Given the description of an element on the screen output the (x, y) to click on. 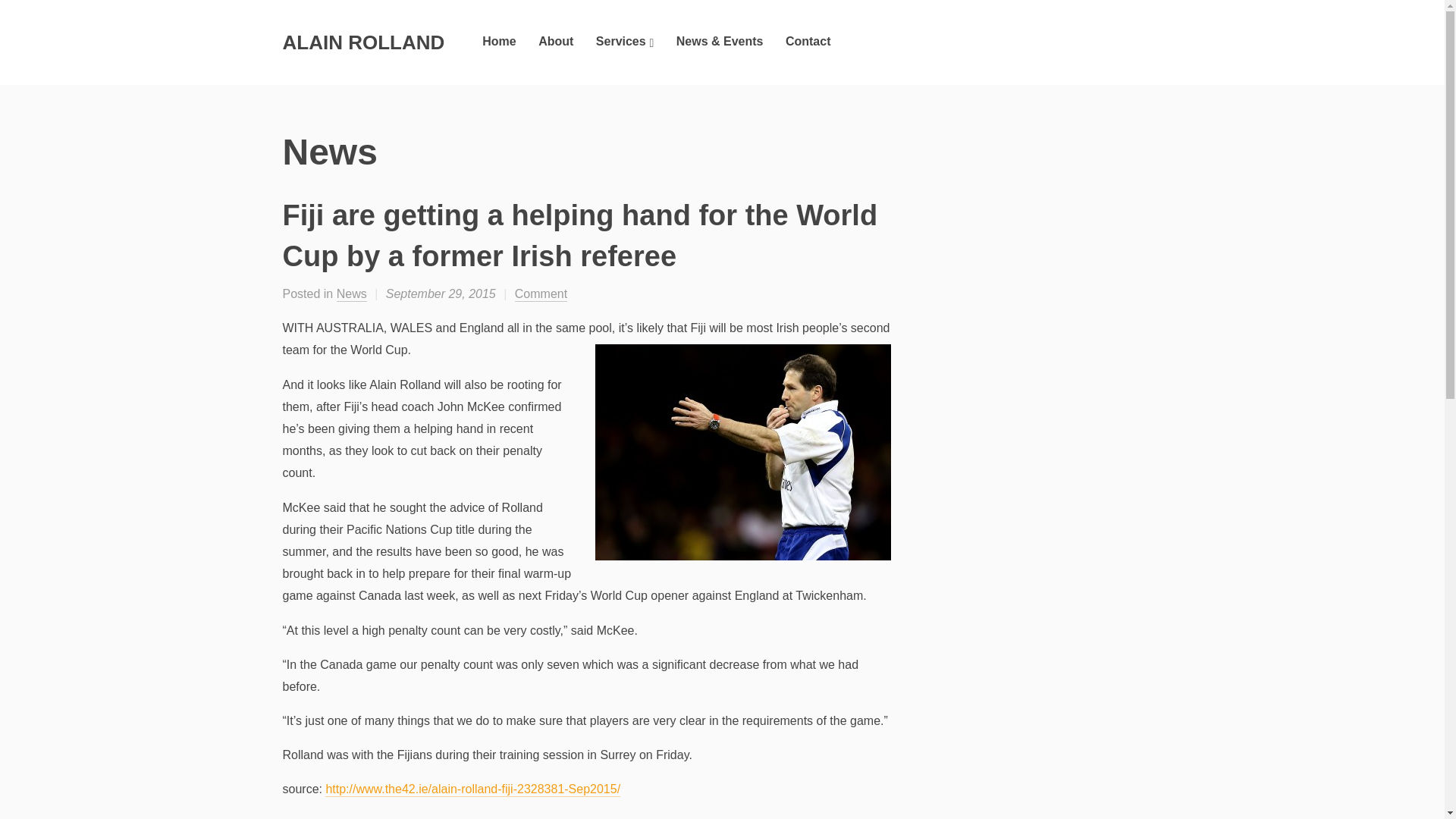
ALAIN ROLLAND (363, 42)
News (351, 294)
Comment (541, 294)
